Given the description of an element on the screen output the (x, y) to click on. 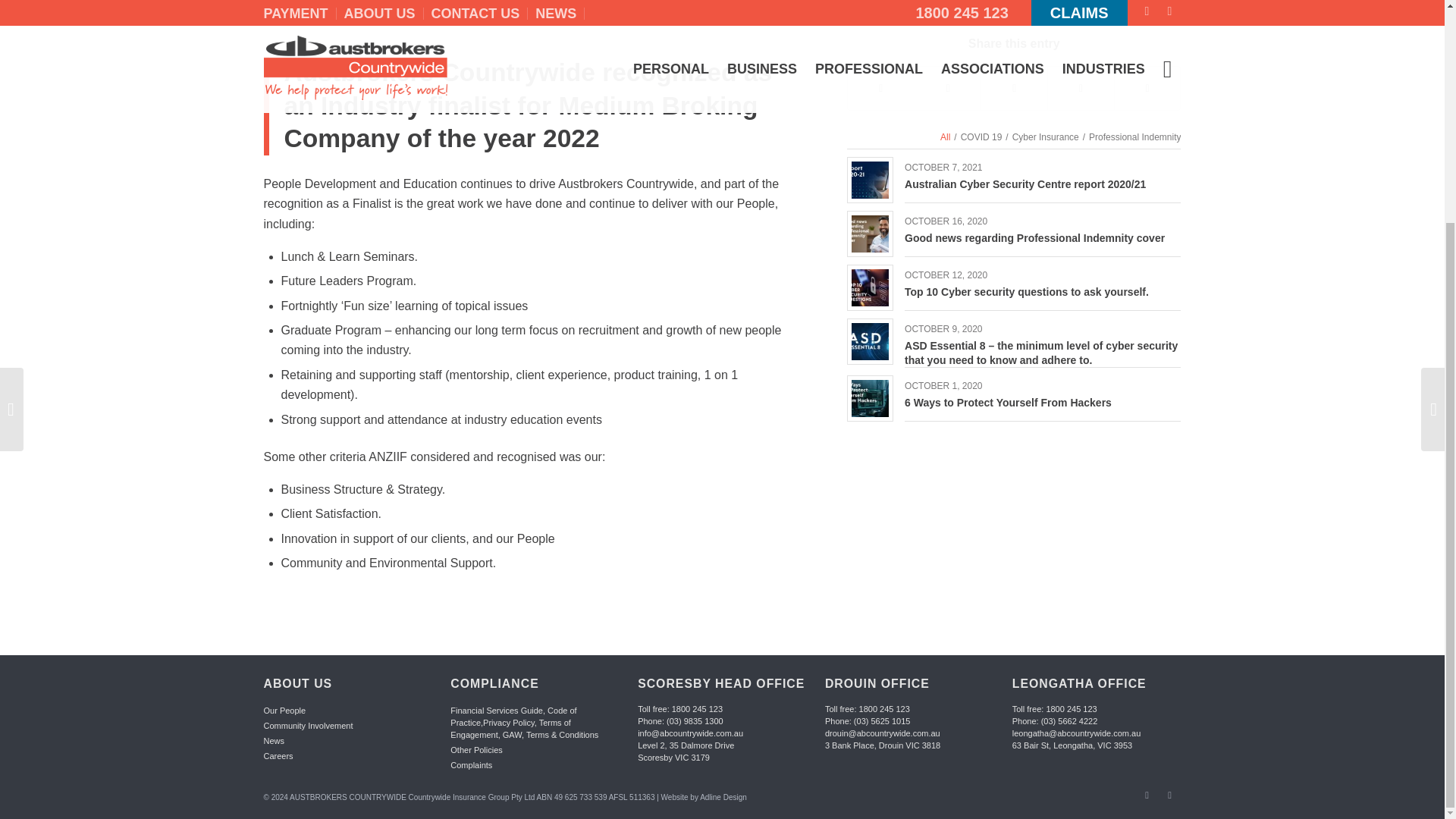
page-image (1013, 11)
Link to: Top 10 Cyber security questions to ask yourself. (869, 287)
Link to: Good news regarding Professional Indemnity cover (1034, 237)
Link to: Good news regarding Professional Indemnity cover (869, 233)
